Given the description of an element on the screen output the (x, y) to click on. 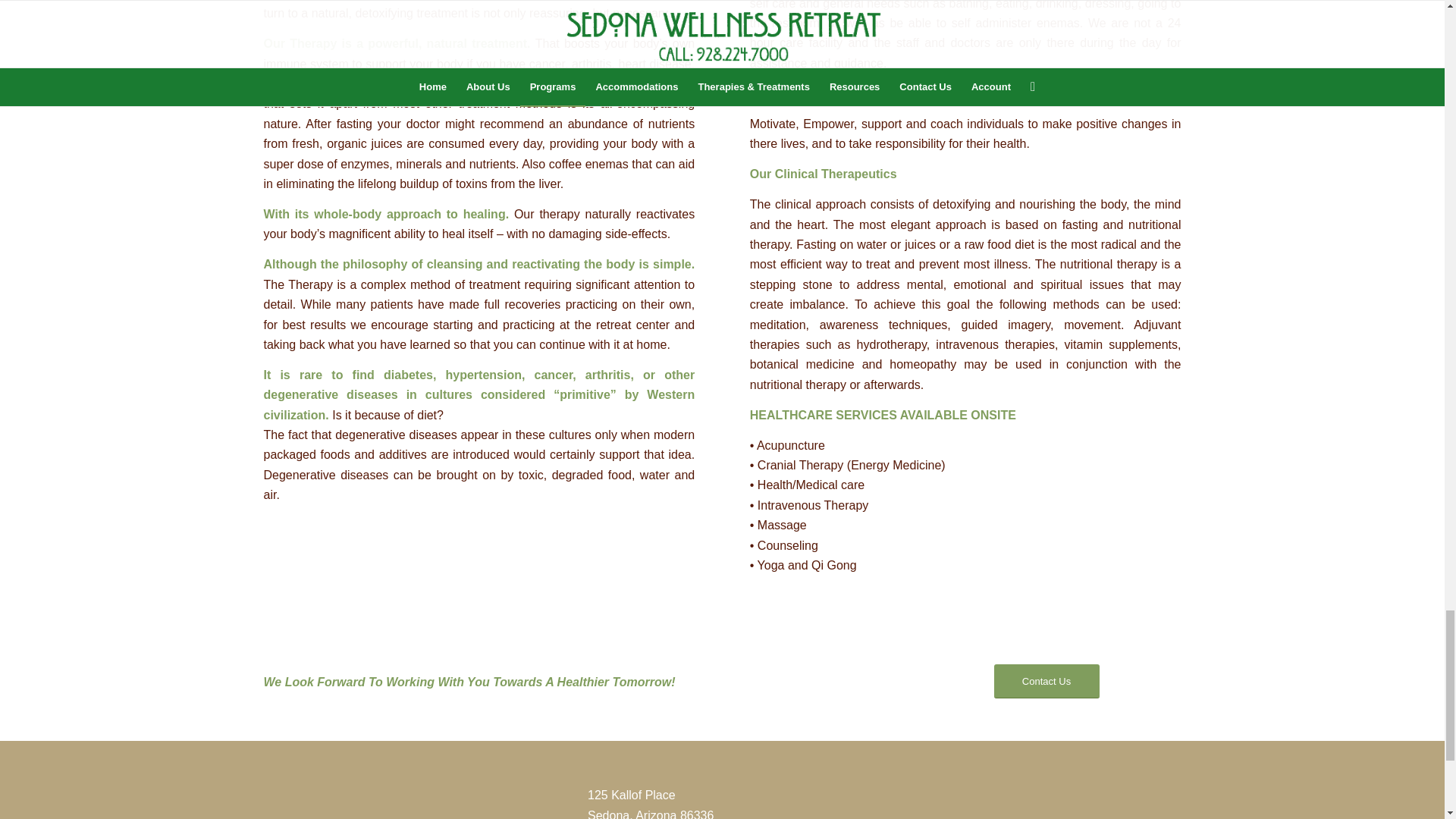
Contact Us (1045, 681)
